Given the description of an element on the screen output the (x, y) to click on. 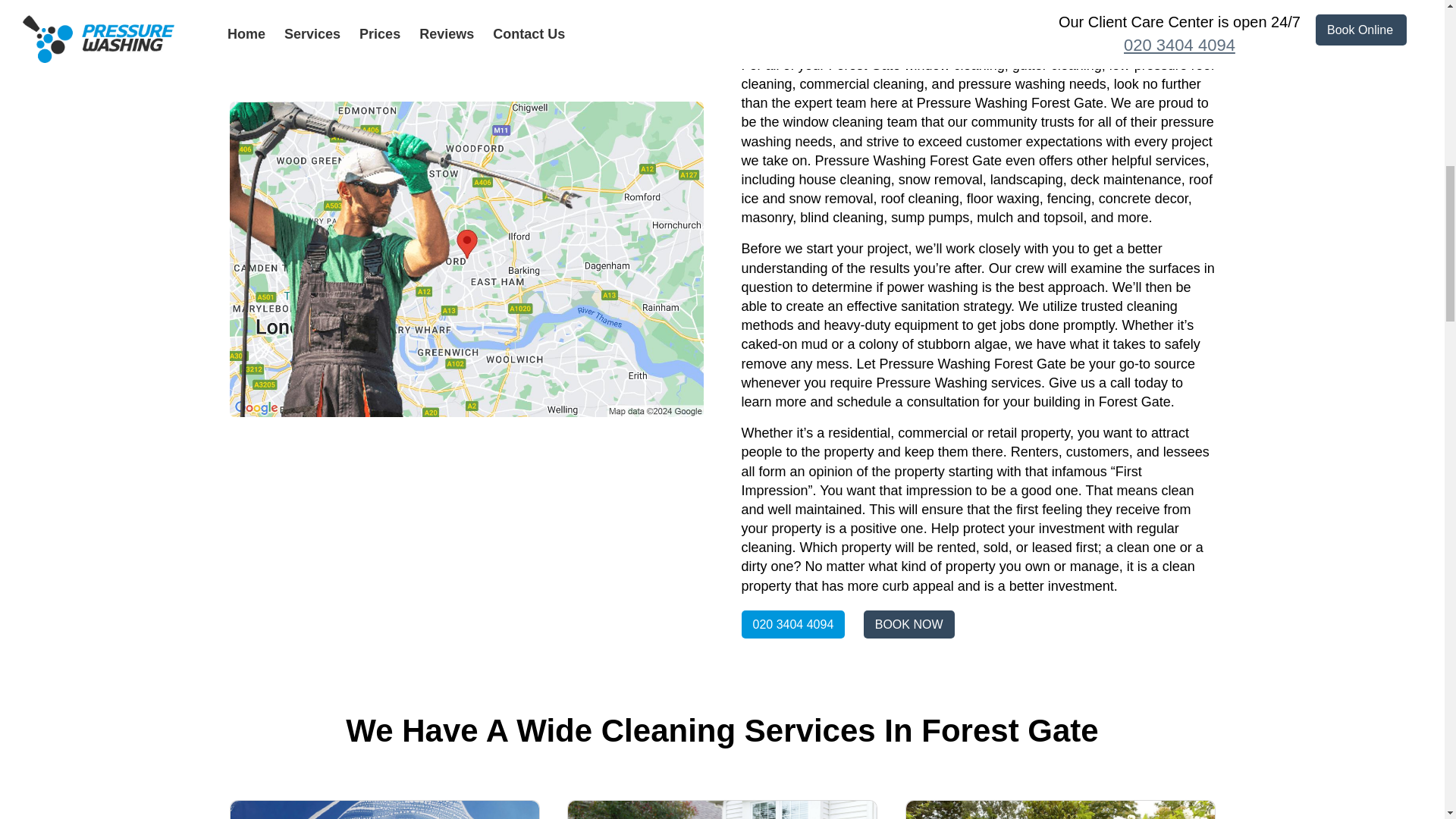
BOOK NOW (909, 624)
020 3404 4094 (793, 624)
